Given the description of an element on the screen output the (x, y) to click on. 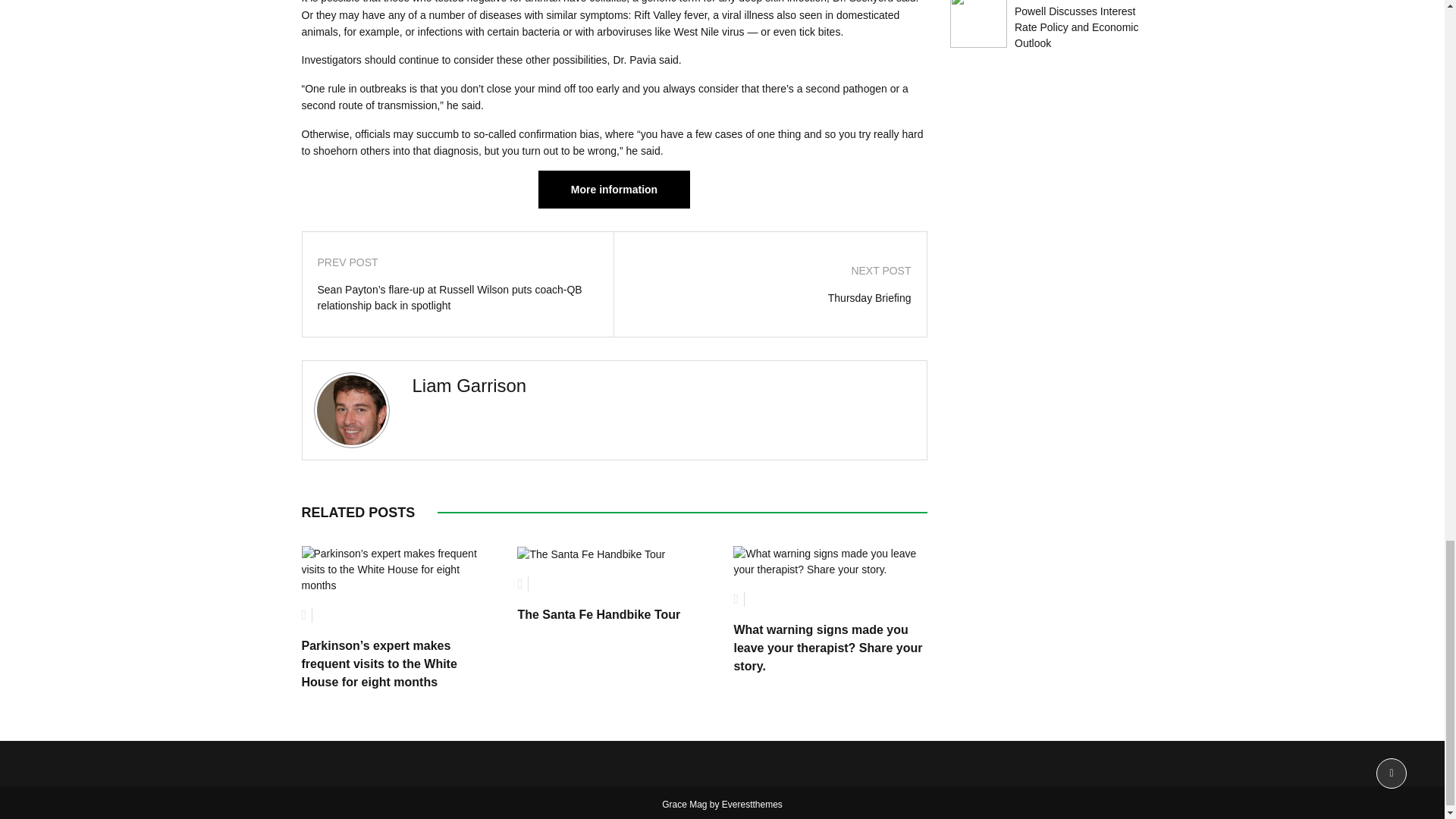
More information (614, 189)
Thursday Briefing (769, 298)
Everestthemes (752, 804)
The Santa Fe Handbike Tour (597, 614)
